Given the description of an element on the screen output the (x, y) to click on. 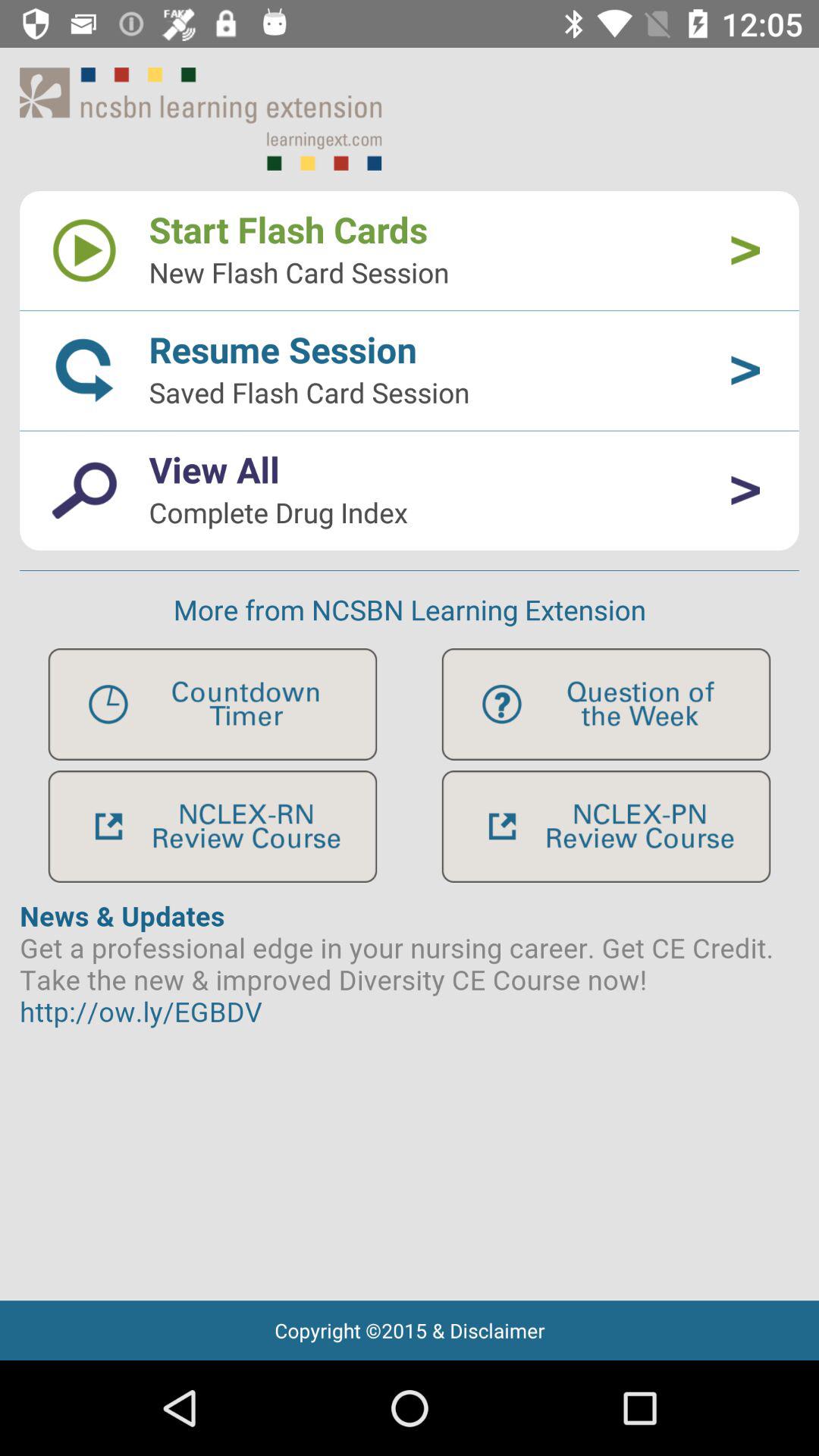
nclex-rn review course (212, 826)
